Given the description of an element on the screen output the (x, y) to click on. 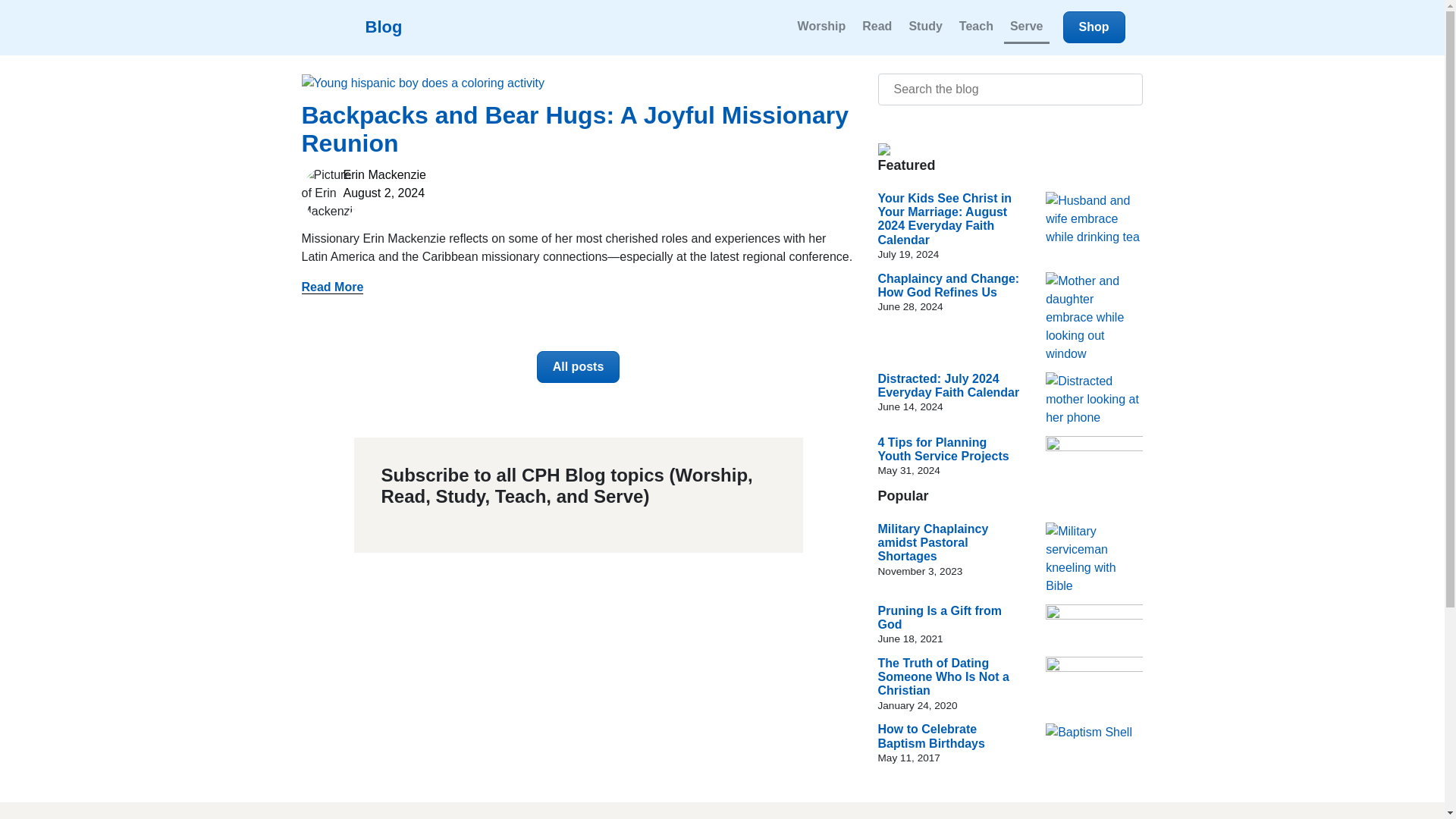
Teach (975, 27)
Read More (332, 287)
Study (924, 27)
The Truth of Dating Someone Who Is Not a Christian (943, 676)
Pruning Is a Gift from God (940, 616)
Shop (1093, 27)
All posts (578, 367)
Read (877, 27)
Backpacks and Bear Hugs: A Joyful Missionary Reunion (574, 129)
